Given the description of an element on the screen output the (x, y) to click on. 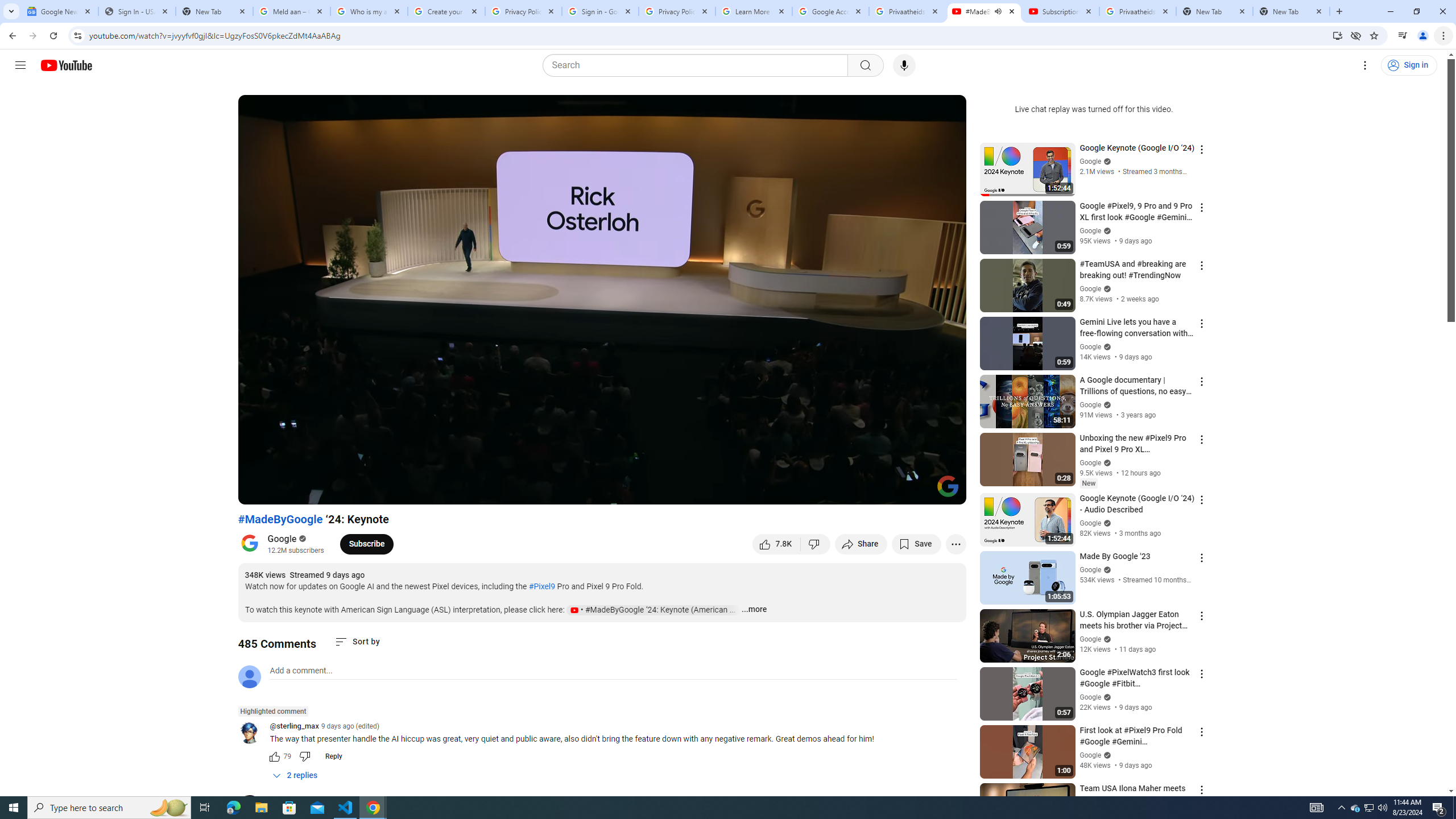
Next (SHIFT+n) (284, 490)
Control your music, videos, and more (1402, 35)
Address and search bar (707, 35)
Sign in (1408, 64)
Miniplayer (i) (890, 490)
Highlighted comment (272, 710)
Save to playlist (915, 543)
Default profile photo (248, 676)
Subtitles/closed captions unavailable (836, 490)
